Given the description of an element on the screen output the (x, y) to click on. 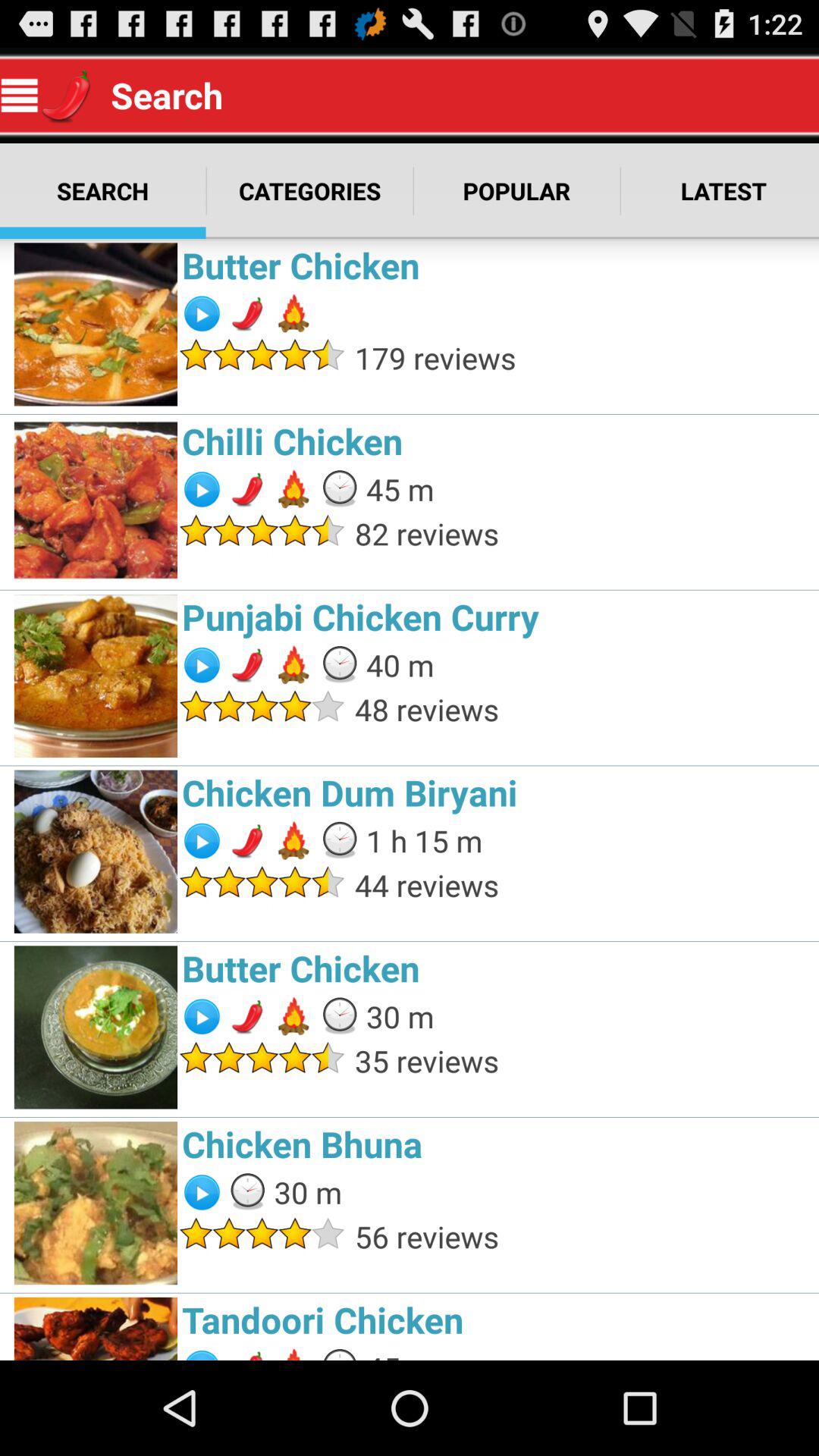
open the item above 44 reviews icon (424, 840)
